Given the description of an element on the screen output the (x, y) to click on. 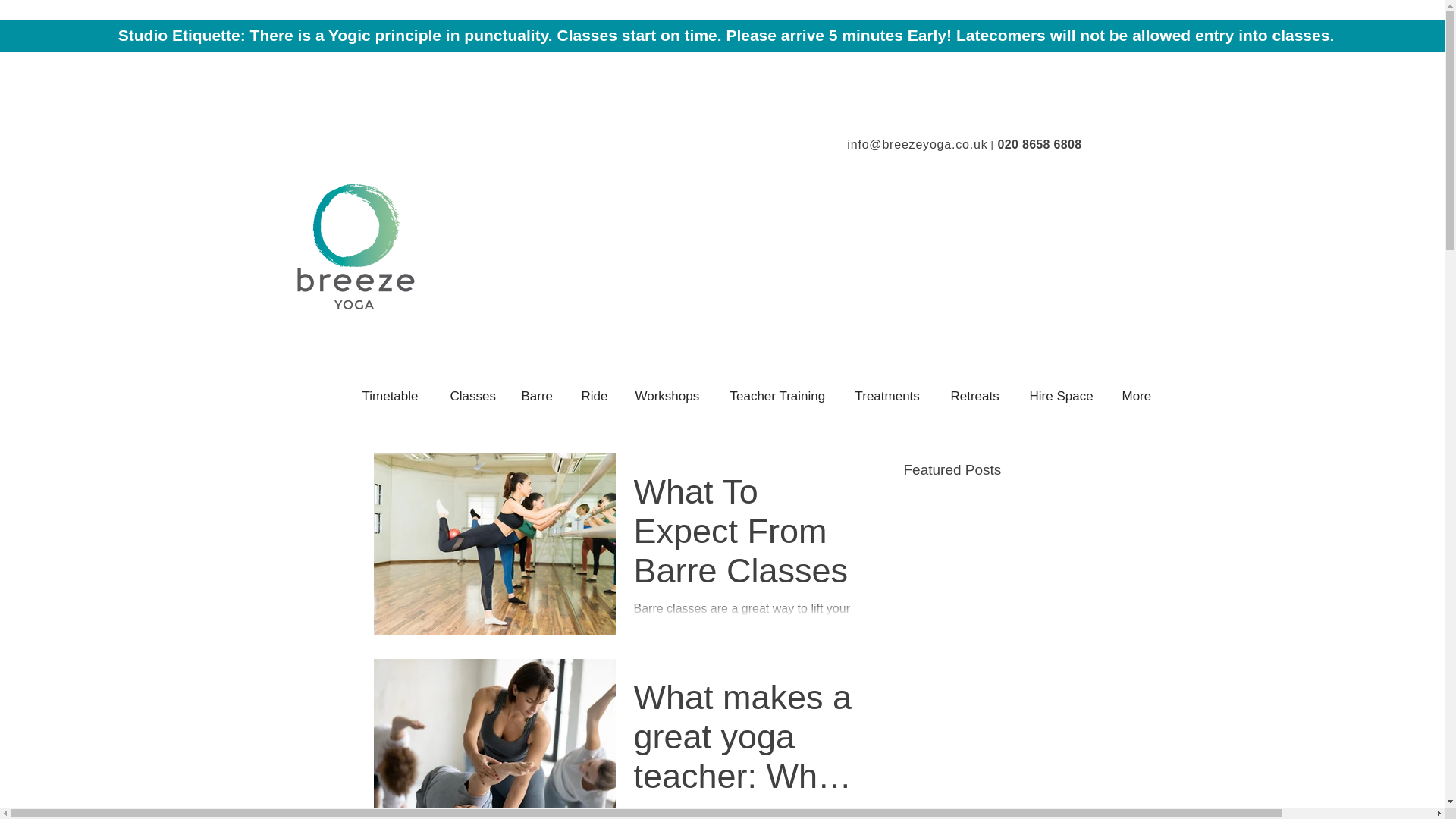
020 8658 6808 (1039, 144)
Workshops (670, 395)
Hire Space (1063, 395)
Teacher Training (781, 395)
Timetable (394, 395)
Retreats (978, 395)
